Given the description of an element on the screen output the (x, y) to click on. 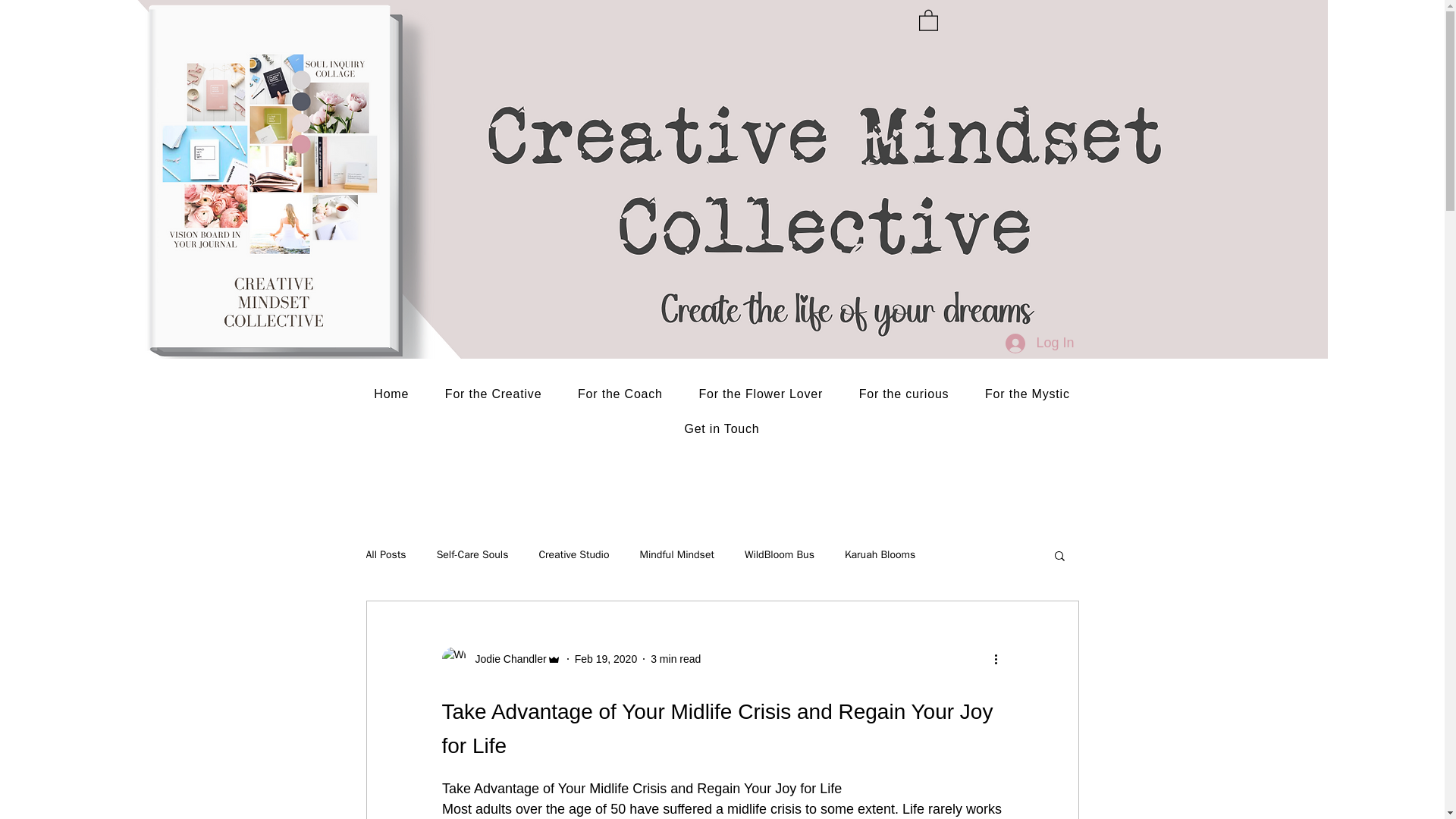
For the curious (903, 394)
Mindful Mindset (677, 554)
WildBloom Bus (778, 554)
Get in Touch (721, 428)
Home (392, 394)
Creative Studio (573, 554)
For the Mystic (1026, 394)
For the Coach (619, 394)
Self-Care Souls (472, 554)
For the Creative (492, 394)
Karuah Blooms (879, 554)
All Posts (385, 554)
Log In (1039, 343)
Jodie Chandler (505, 658)
Jodie Chandler (500, 658)
